Given the description of an element on the screen output the (x, y) to click on. 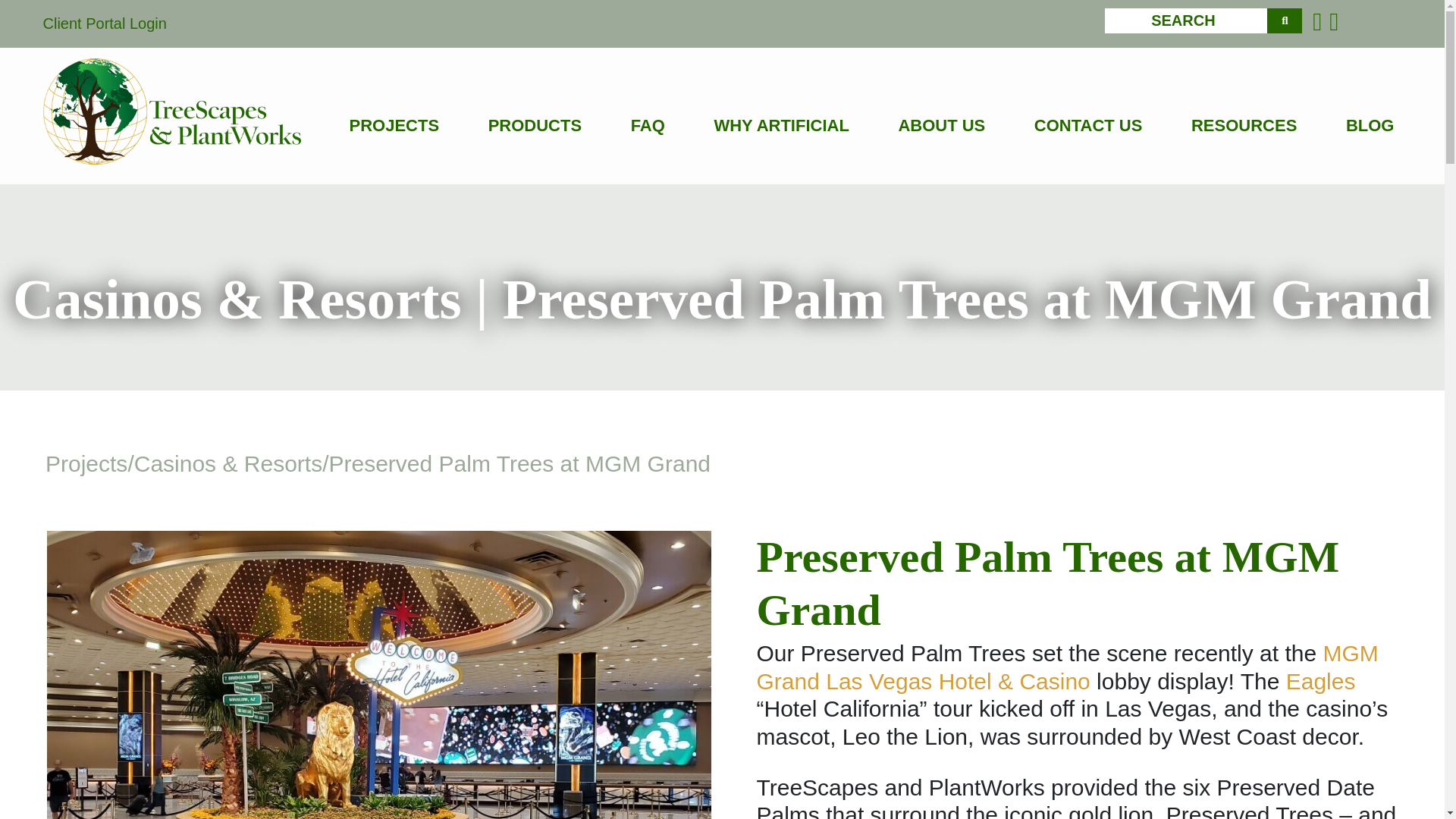
ABOUT US (941, 125)
CONTACT US (1087, 125)
WHY ARTIFICIAL (780, 125)
PROJECTS (394, 125)
Search (1283, 20)
PRODUCTS (533, 125)
Projects (86, 463)
BLOG (1369, 125)
FAQ (647, 125)
Client Portal Login (103, 23)
RESOURCES (1244, 125)
Eagles (1320, 681)
Go to Projects. (86, 463)
